Given the description of an element on the screen output the (x, y) to click on. 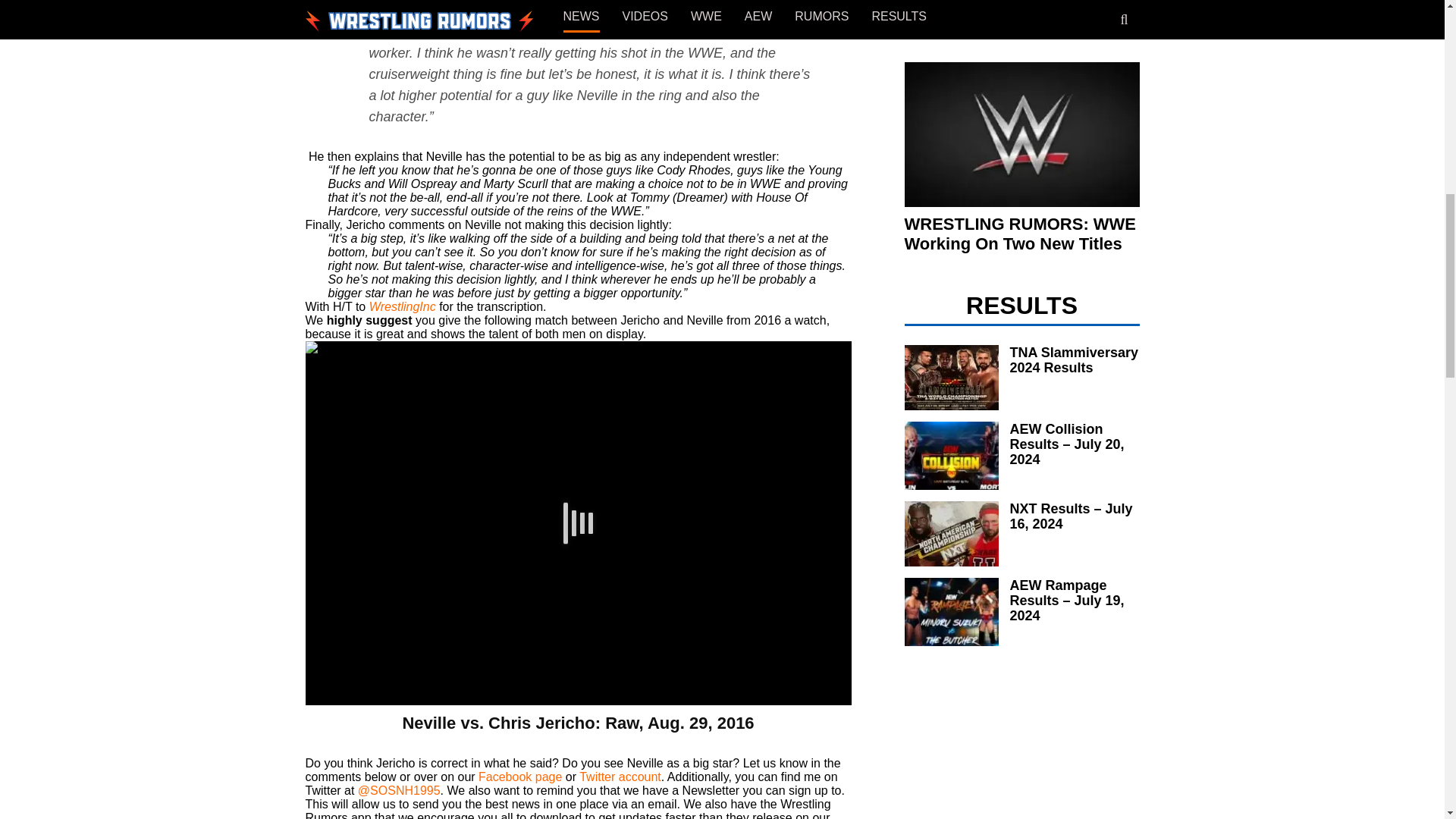
Twitter account (620, 776)
Facebook page (520, 776)
WrestlingInc (402, 306)
